Given the description of an element on the screen output the (x, y) to click on. 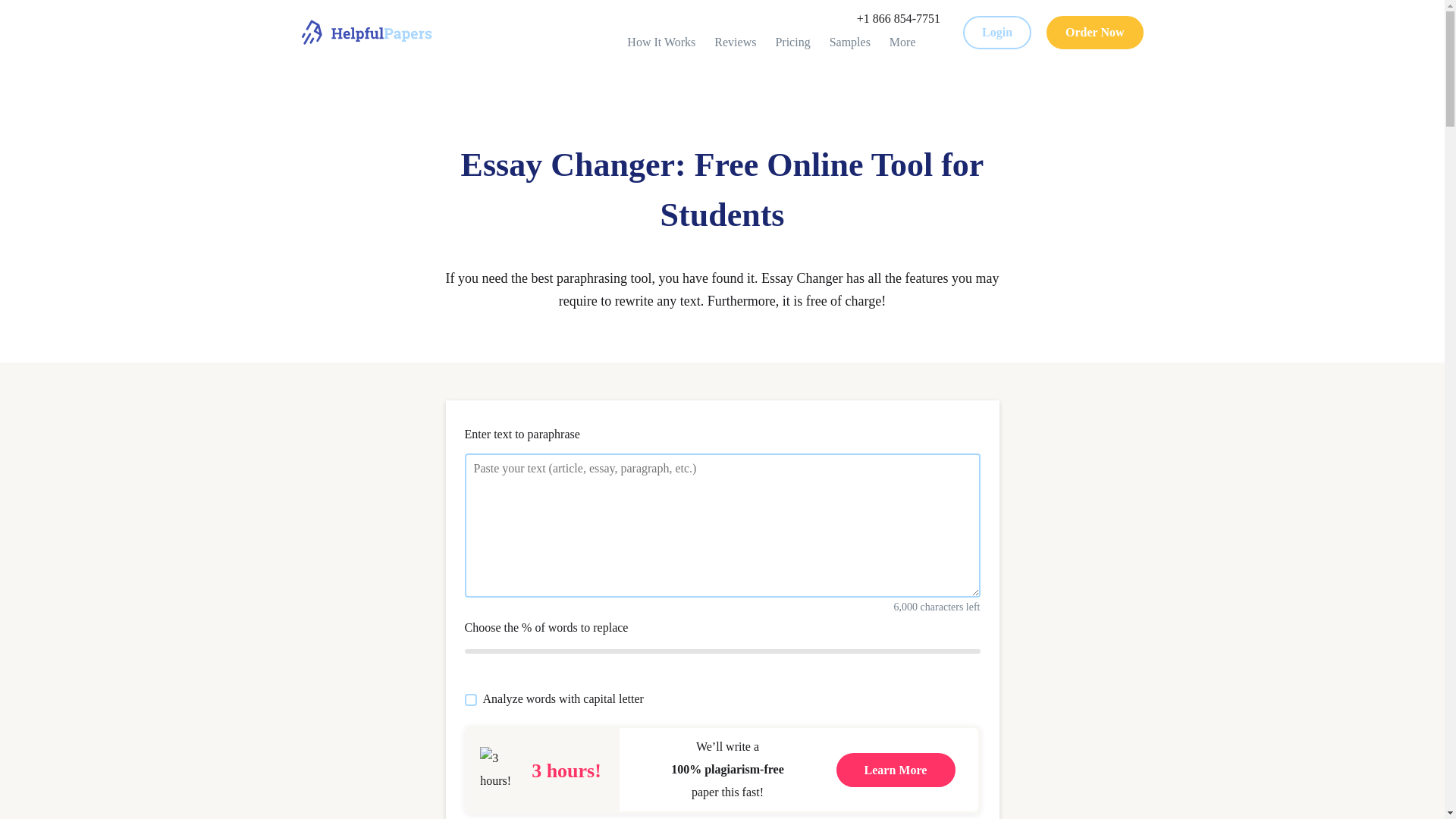
How It Works (661, 41)
Samples (849, 41)
Call Us (898, 18)
Pricing (791, 41)
Reviews (734, 41)
More (910, 41)
More (910, 41)
How It Works (661, 41)
HelpfulPapers (366, 32)
Login (996, 31)
Reviews (734, 41)
Samples (849, 41)
Order Now (1094, 31)
Pricing (721, 519)
